Given the description of an element on the screen output the (x, y) to click on. 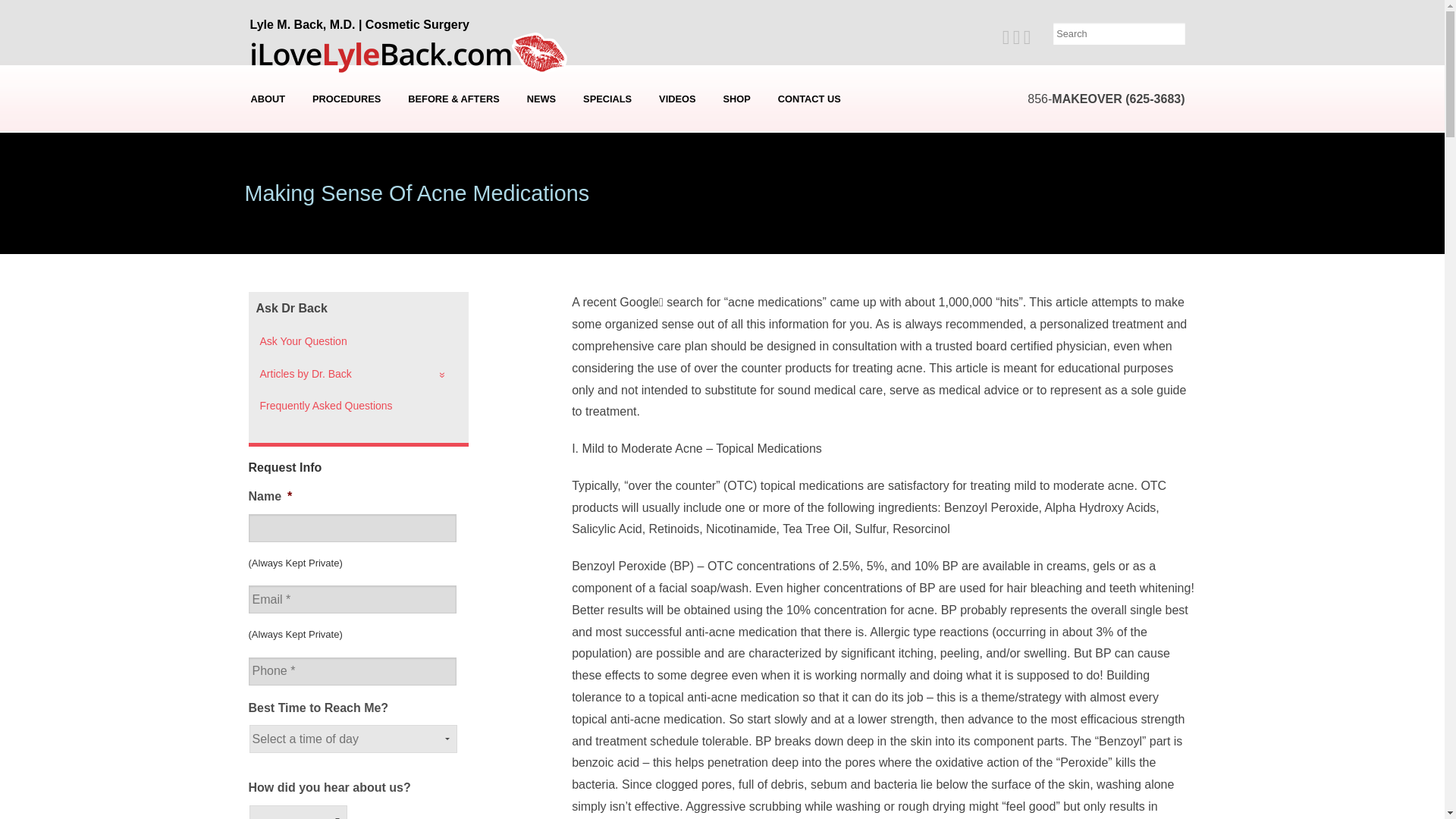
CONTACT US (809, 98)
MEN (346, 220)
FACE (346, 197)
PRESS RELEASES (543, 174)
NON-SURGICAL (346, 242)
Cosmetic surgery and skin care services (346, 98)
VIDEOS (676, 98)
SPECIALS (607, 98)
NEWSLETTER (543, 151)
BODY (346, 174)
IN THE NEWS (543, 128)
COSMETIC SKIN CARE SPECIALISTS (268, 197)
ABOUT DR. BACK (268, 128)
PROCEDURES (346, 98)
ABOUT (268, 98)
